Given the description of an element on the screen output the (x, y) to click on. 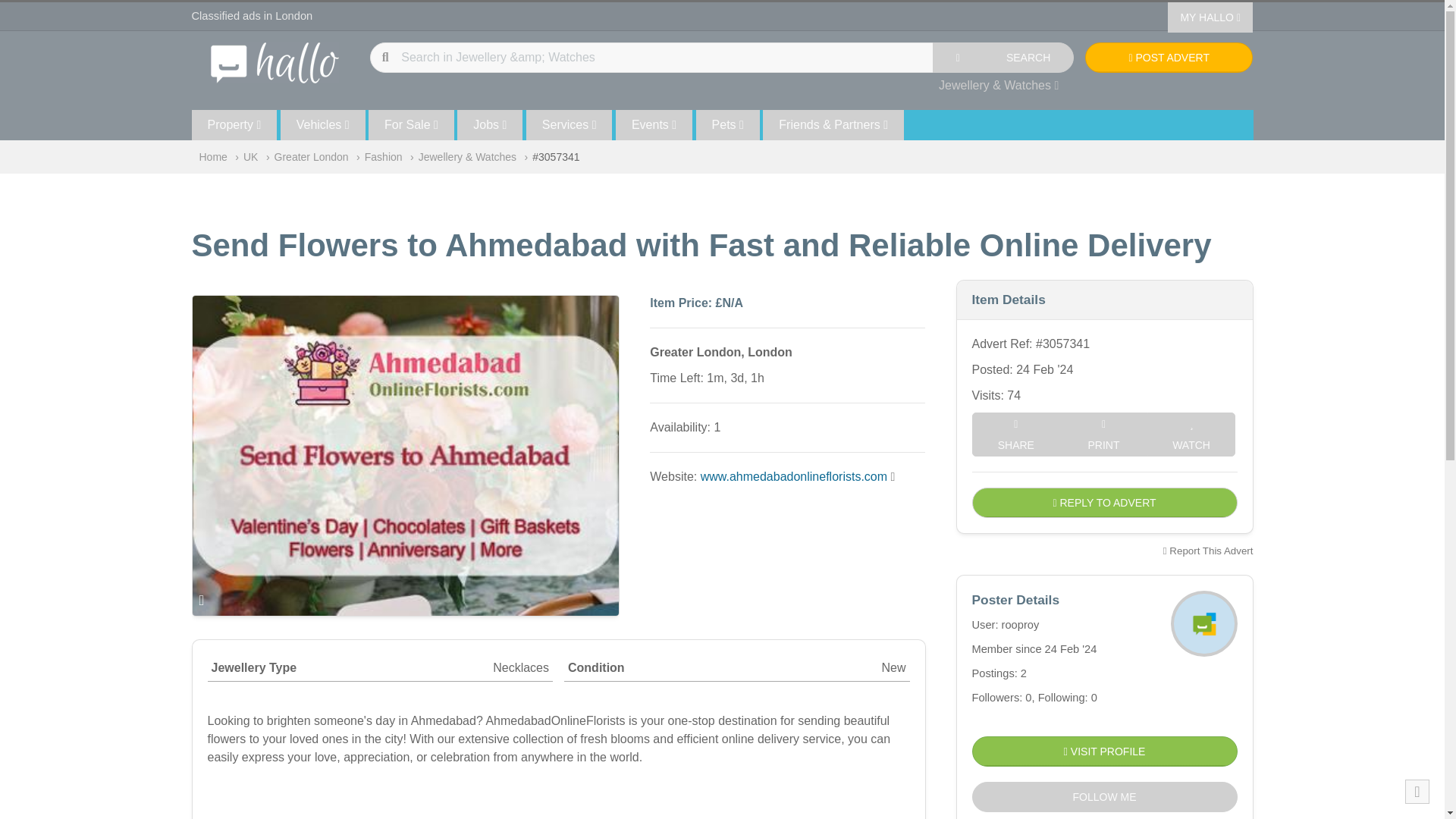
For Sale (411, 124)
SEARCH (1028, 57)
POST ADVERT (1168, 57)
Vehicles (323, 124)
MY HALLO (1209, 17)
Property (233, 124)
Hallo Free Classified Ads (275, 61)
